Given the description of an element on the screen output the (x, y) to click on. 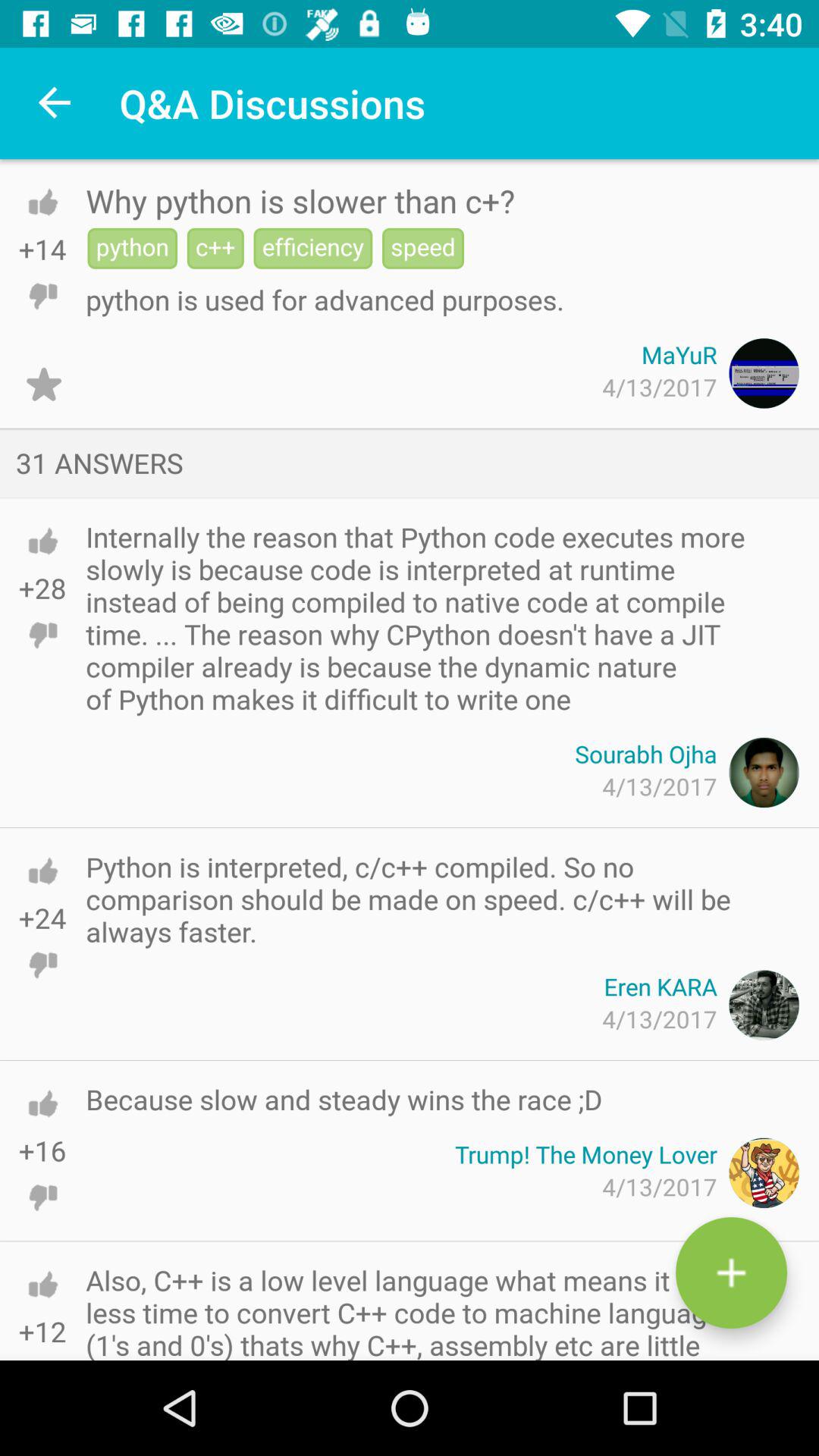
dislike button (42, 964)
